Given the description of an element on the screen output the (x, y) to click on. 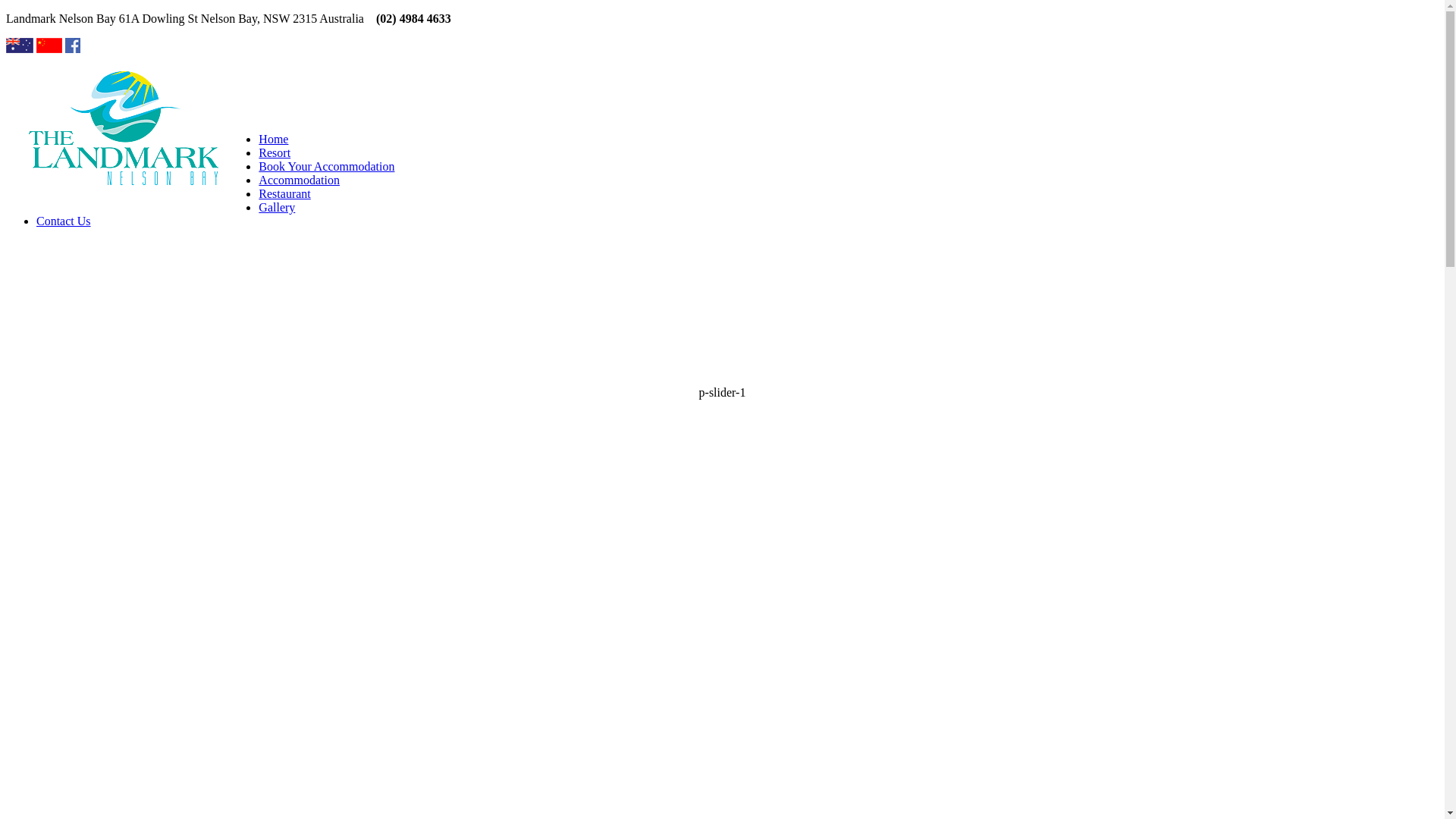
Accommodation Element type: text (298, 179)
Contact Us Element type: text (63, 220)
Resort Element type: text (274, 152)
Restaurant Element type: text (284, 193)
Landmark Nelson Bay Element type: hover (135, 129)
Home Element type: text (273, 138)
Gallery Element type: text (276, 206)
Book Your Accommodation Element type: text (326, 166)
Facebook Element type: hover (72, 48)
